Given the description of an element on the screen output the (x, y) to click on. 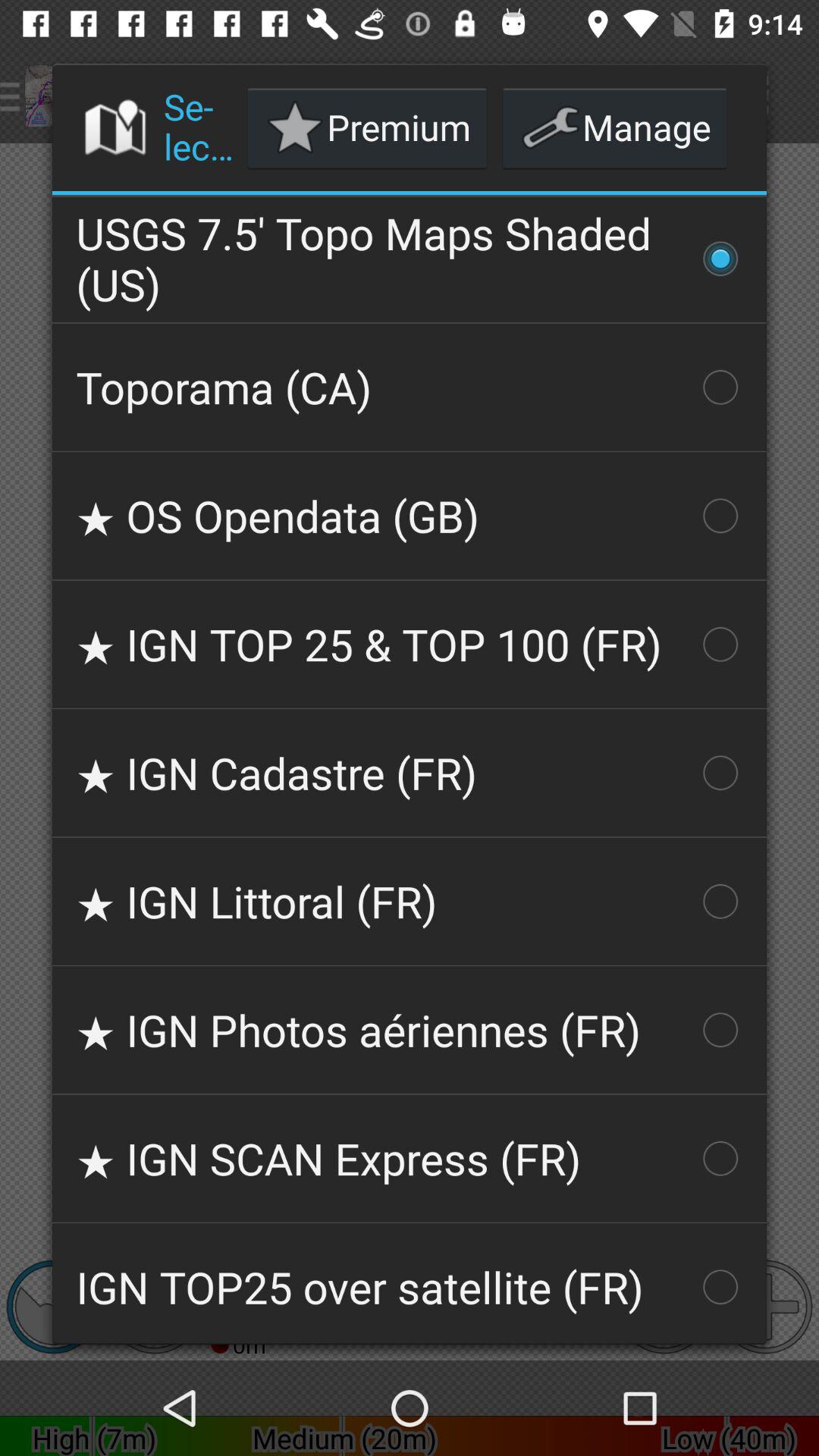
click icon at the top right corner (614, 127)
